Given the description of an element on the screen output the (x, y) to click on. 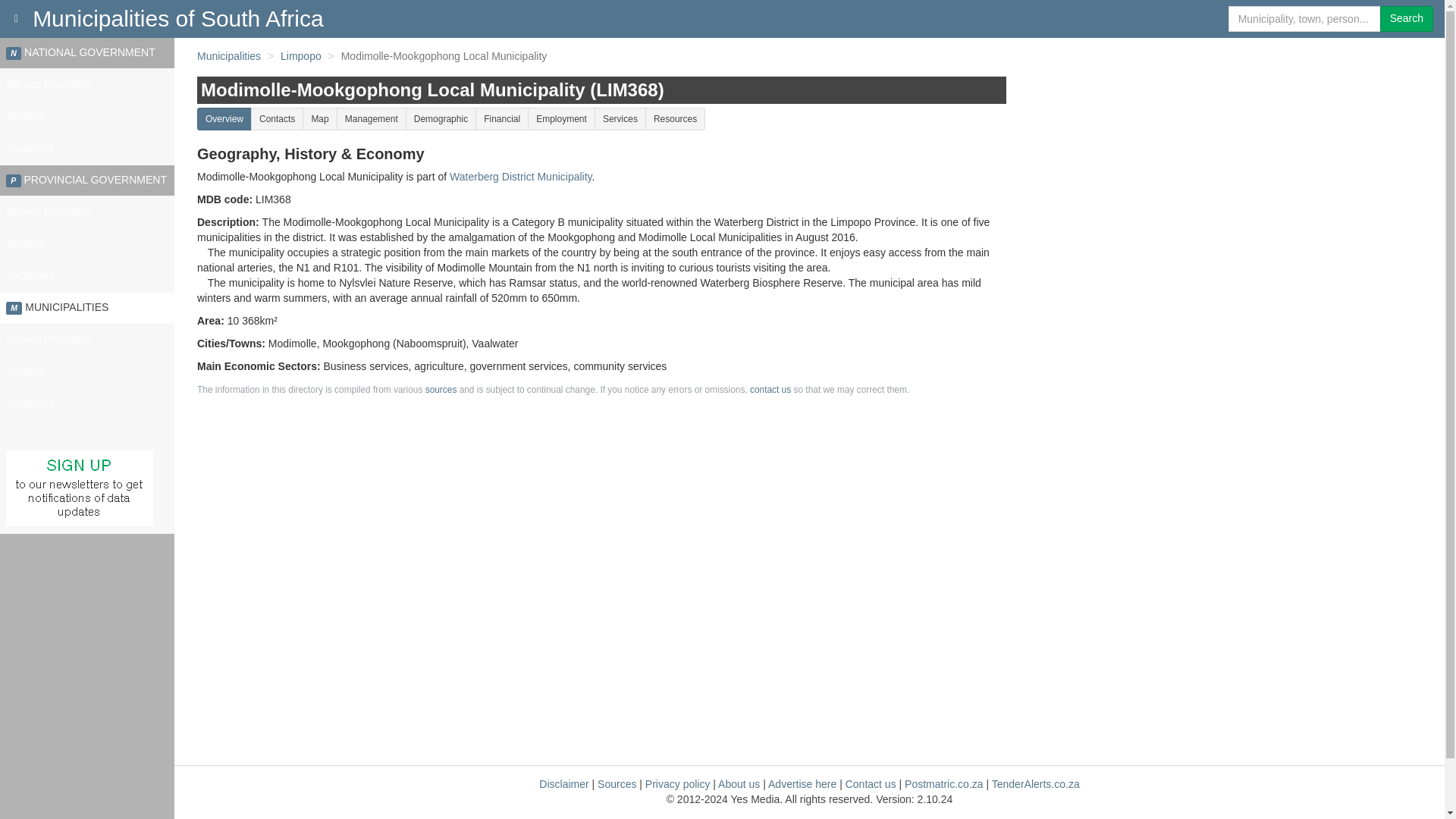
Contacts (276, 118)
Services (620, 118)
Tenders (87, 116)
N NATIONAL GOVERNMENT (87, 52)
3rd party ad content (1225, 565)
Employment (561, 118)
Sources (616, 784)
TenderAlerts.co.za (1035, 784)
Newsletter sign up (78, 488)
M MUNICIPALITIES (87, 307)
Service Providers (87, 212)
Advertise here (801, 784)
sources (441, 389)
3rd party ad content (1225, 149)
Privacy policy (677, 784)
